Given the description of an element on the screen output the (x, y) to click on. 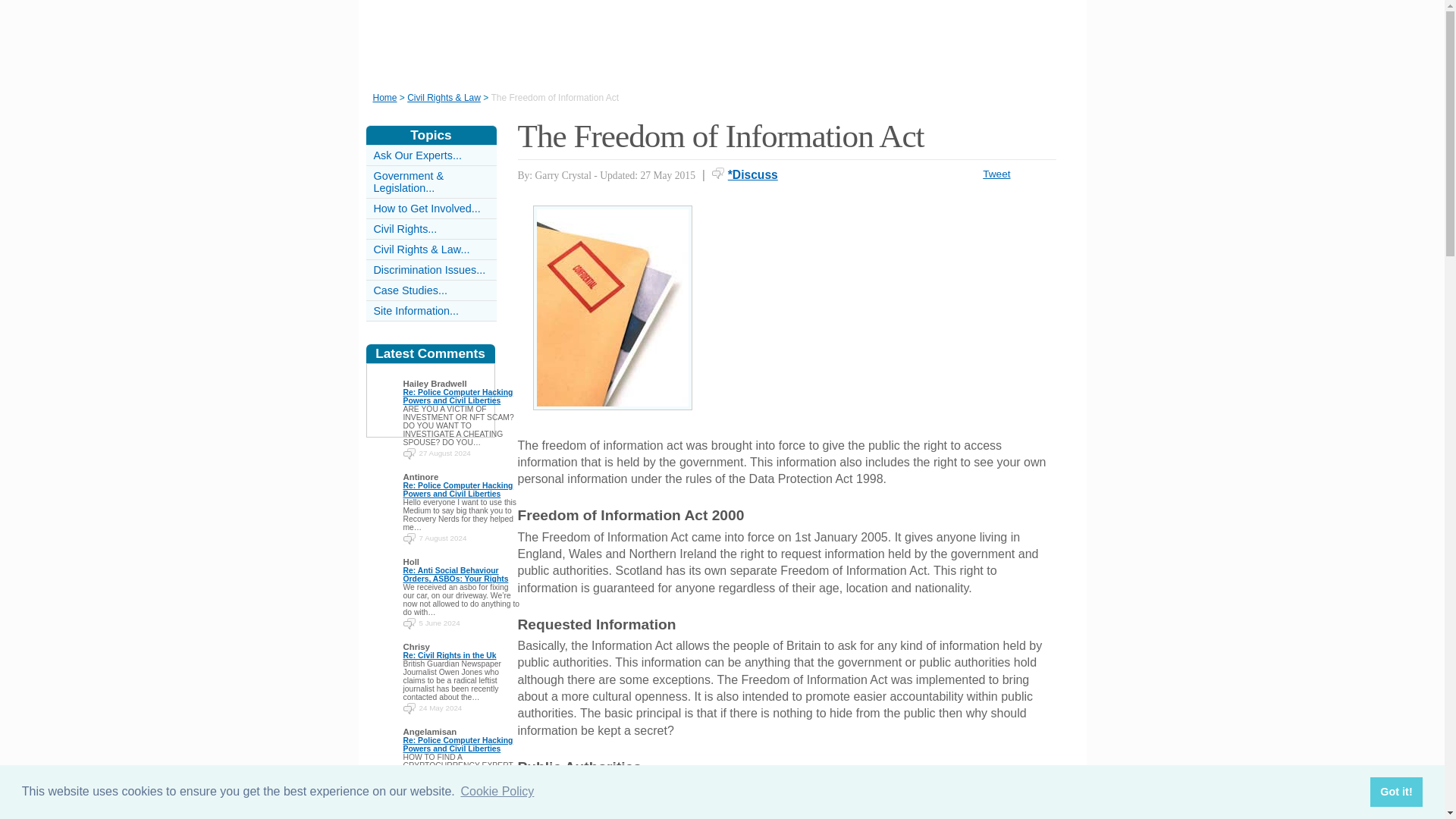
Case Studies... (409, 290)
Site Information... (415, 310)
Cookie Policy (496, 791)
Advertisement (889, 311)
Re: Police Computer Hacking Powers and Civil Liberties (458, 489)
How to Get Involved... (426, 208)
Re: Police Computer Hacking Powers and Civil Liberties (458, 744)
Tweet (996, 173)
Discrimination Issues... (428, 269)
Re: Anti Social Behaviour Orders, ASBOs: Your Rights (455, 574)
